Given the description of an element on the screen output the (x, y) to click on. 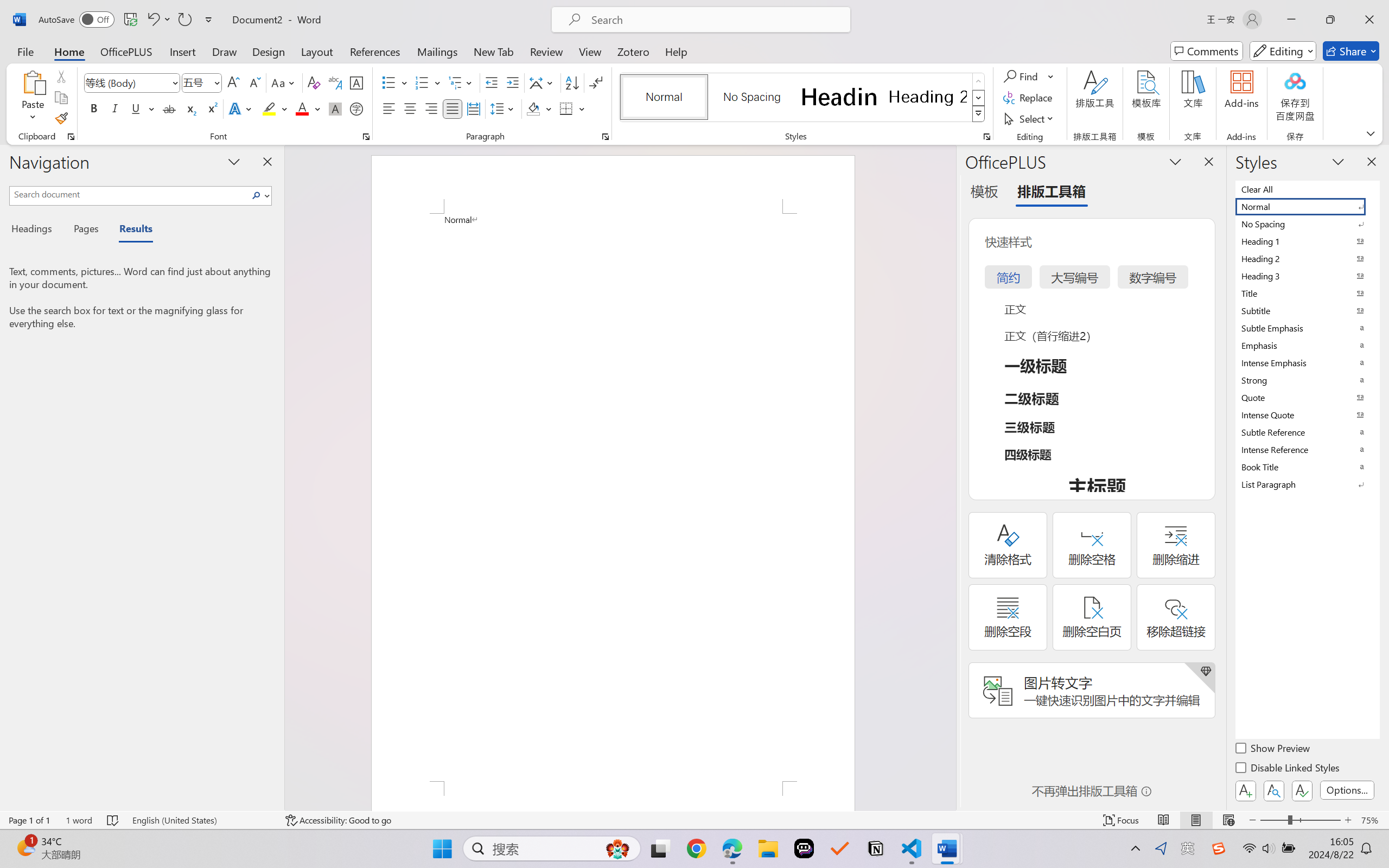
Text Highlight Color (274, 108)
Show/Hide Editing Marks (595, 82)
Subscript (190, 108)
Class: MsoCommandBar (694, 819)
Review (546, 51)
Font (126, 82)
Zoom In (1348, 819)
Class: NetUIButton (1301, 790)
Font Color Red (302, 108)
Clear All (1306, 188)
Font Size (196, 82)
